Given the description of an element on the screen output the (x, y) to click on. 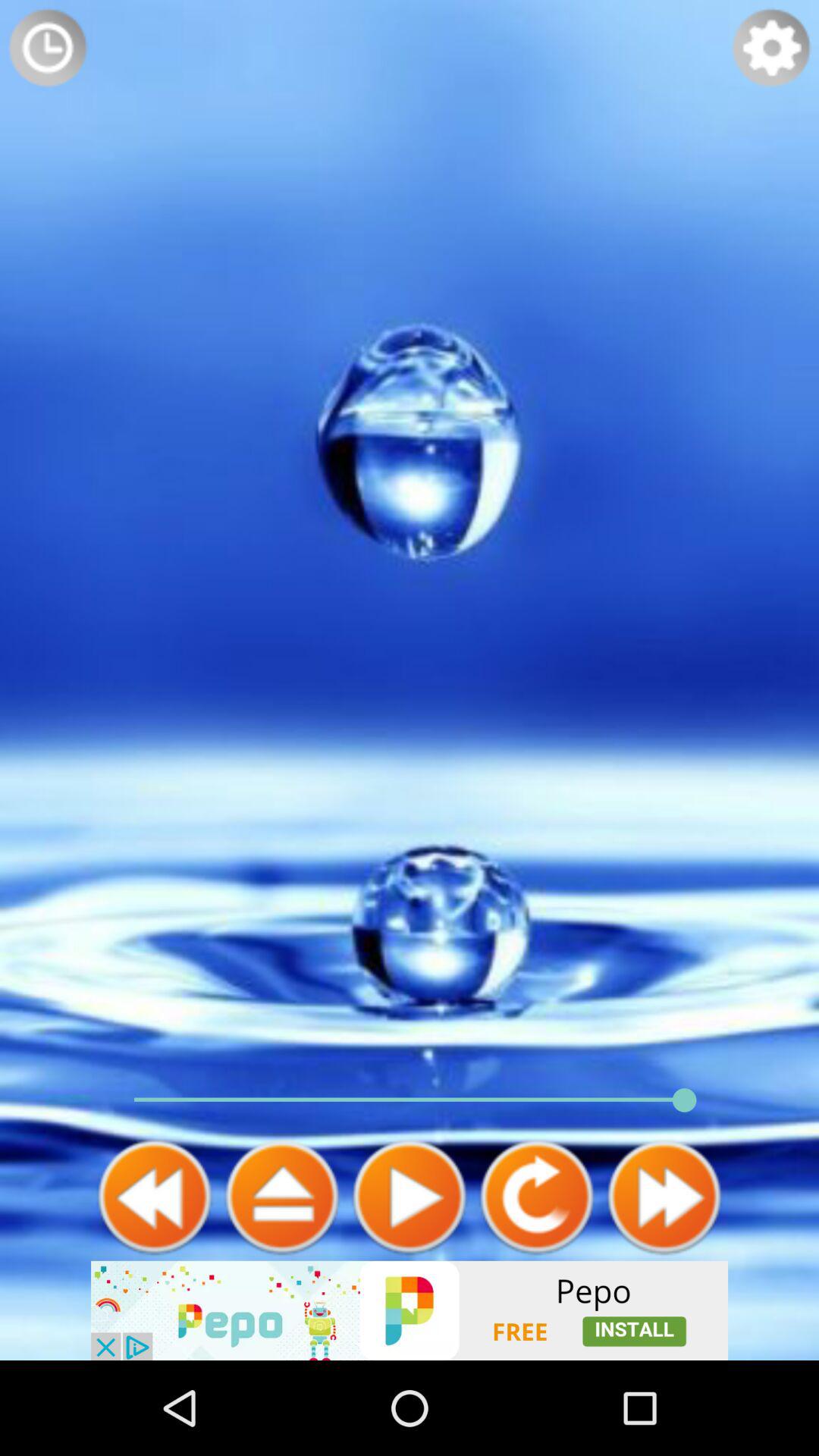
forward (664, 1196)
